Given the description of an element on the screen output the (x, y) to click on. 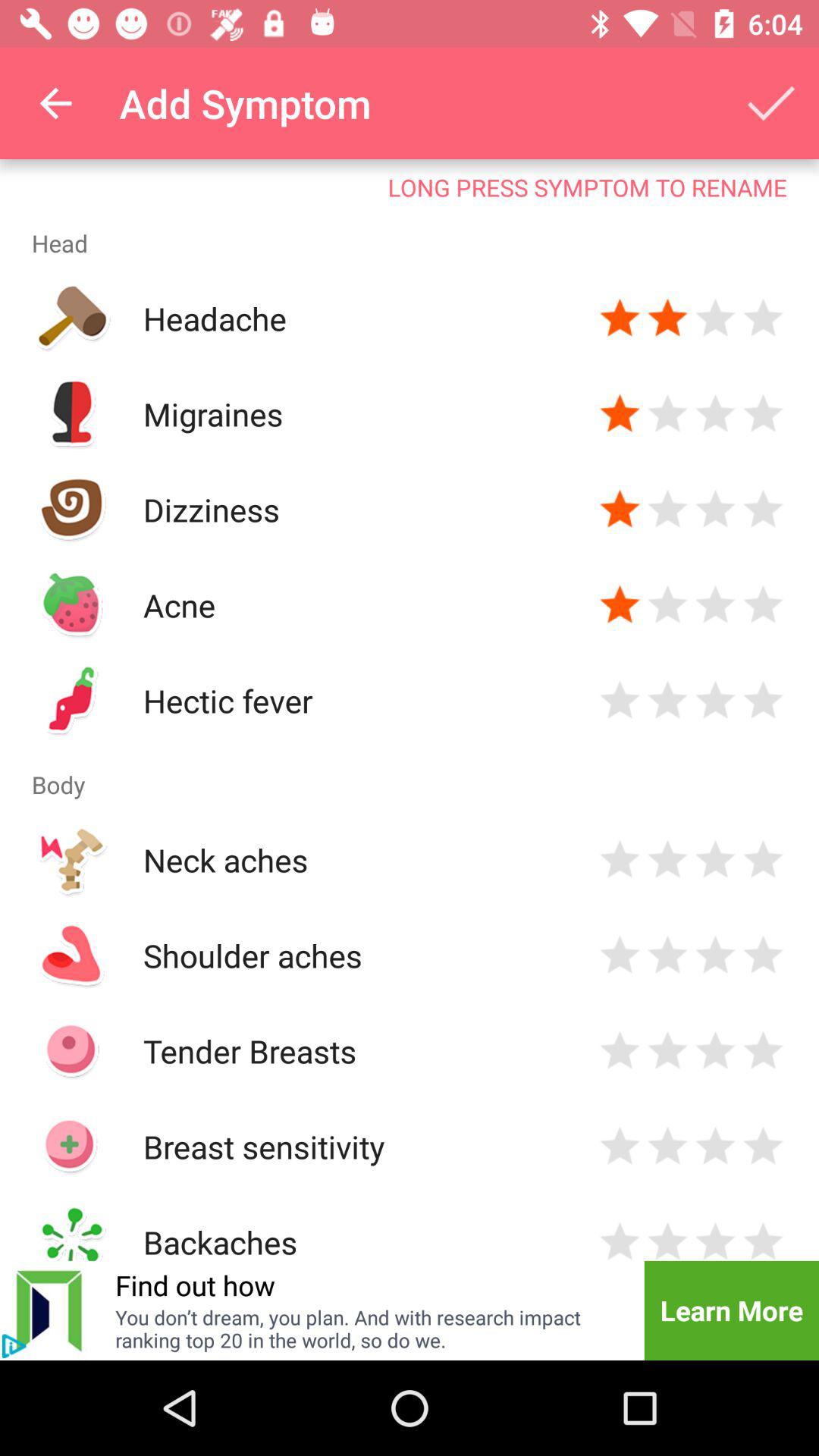
press the item to the left of add symptom icon (55, 103)
